Given the description of an element on the screen output the (x, y) to click on. 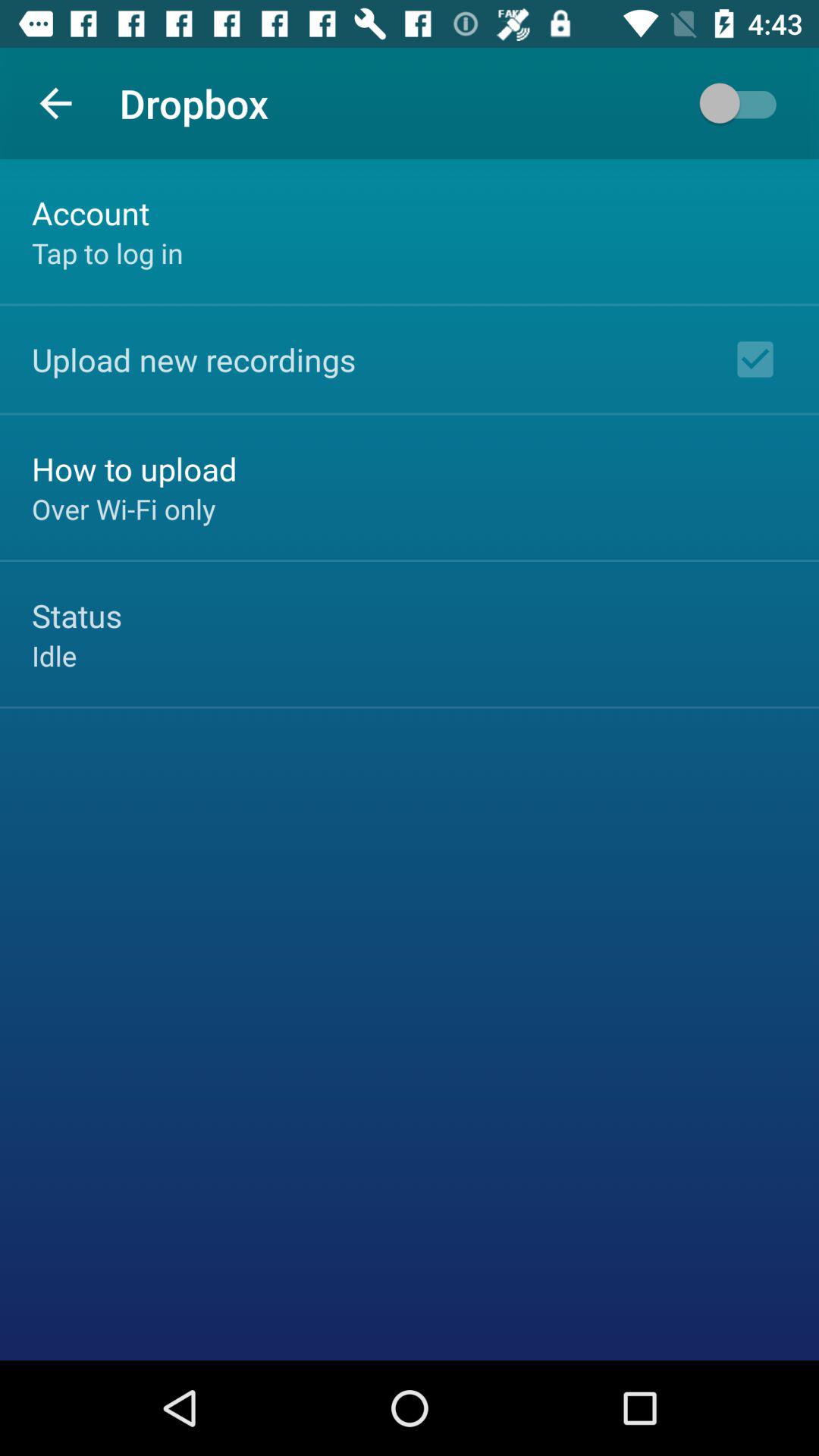
turn off the item below over wi fi icon (76, 615)
